Given the description of an element on the screen output the (x, y) to click on. 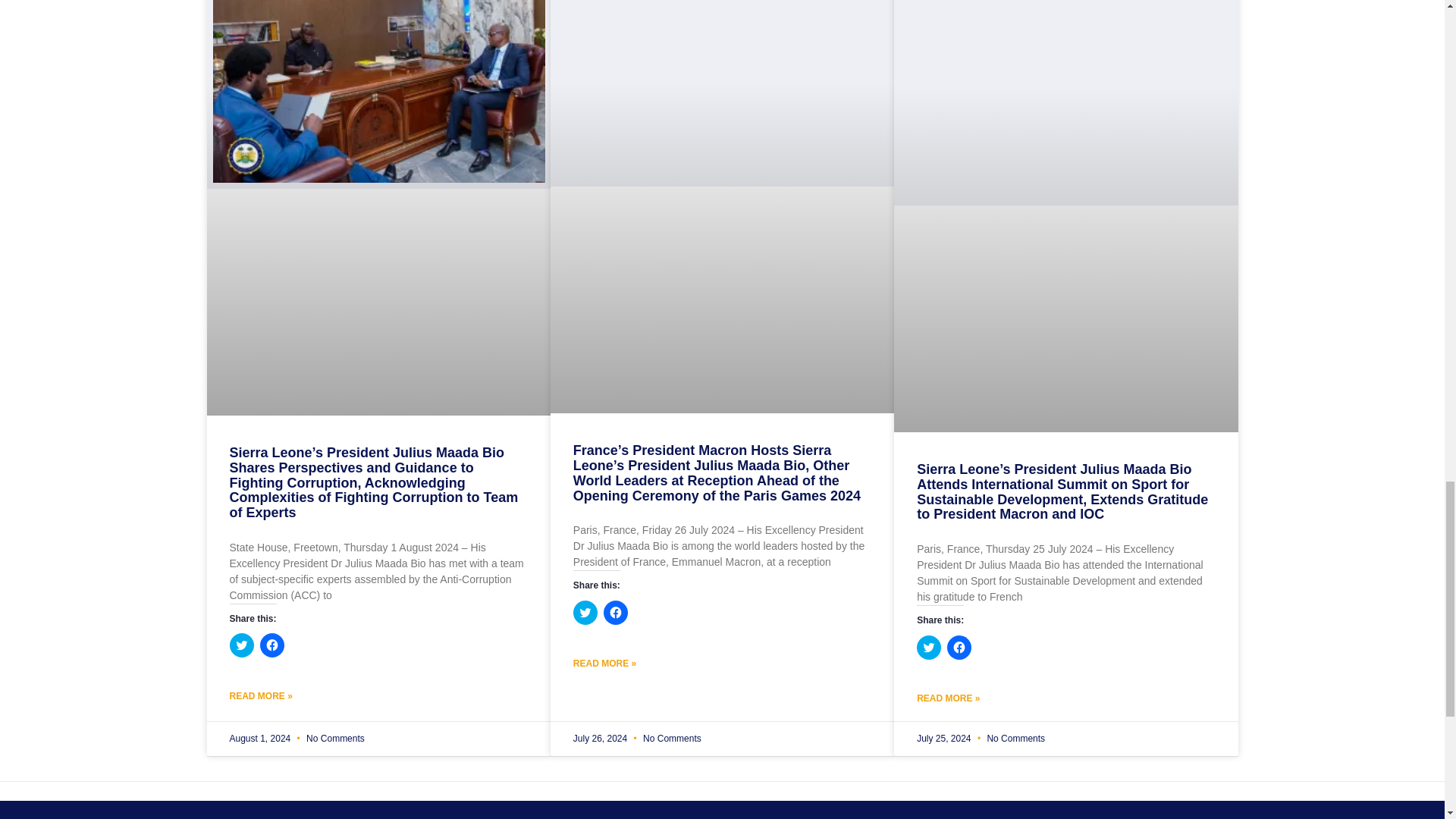
Click to share on Facebook (959, 647)
Click to share on Twitter (584, 612)
Click to share on Facebook (615, 612)
Click to share on Twitter (240, 645)
Click to share on Facebook (271, 645)
Click to share on Twitter (928, 647)
